Given the description of an element on the screen output the (x, y) to click on. 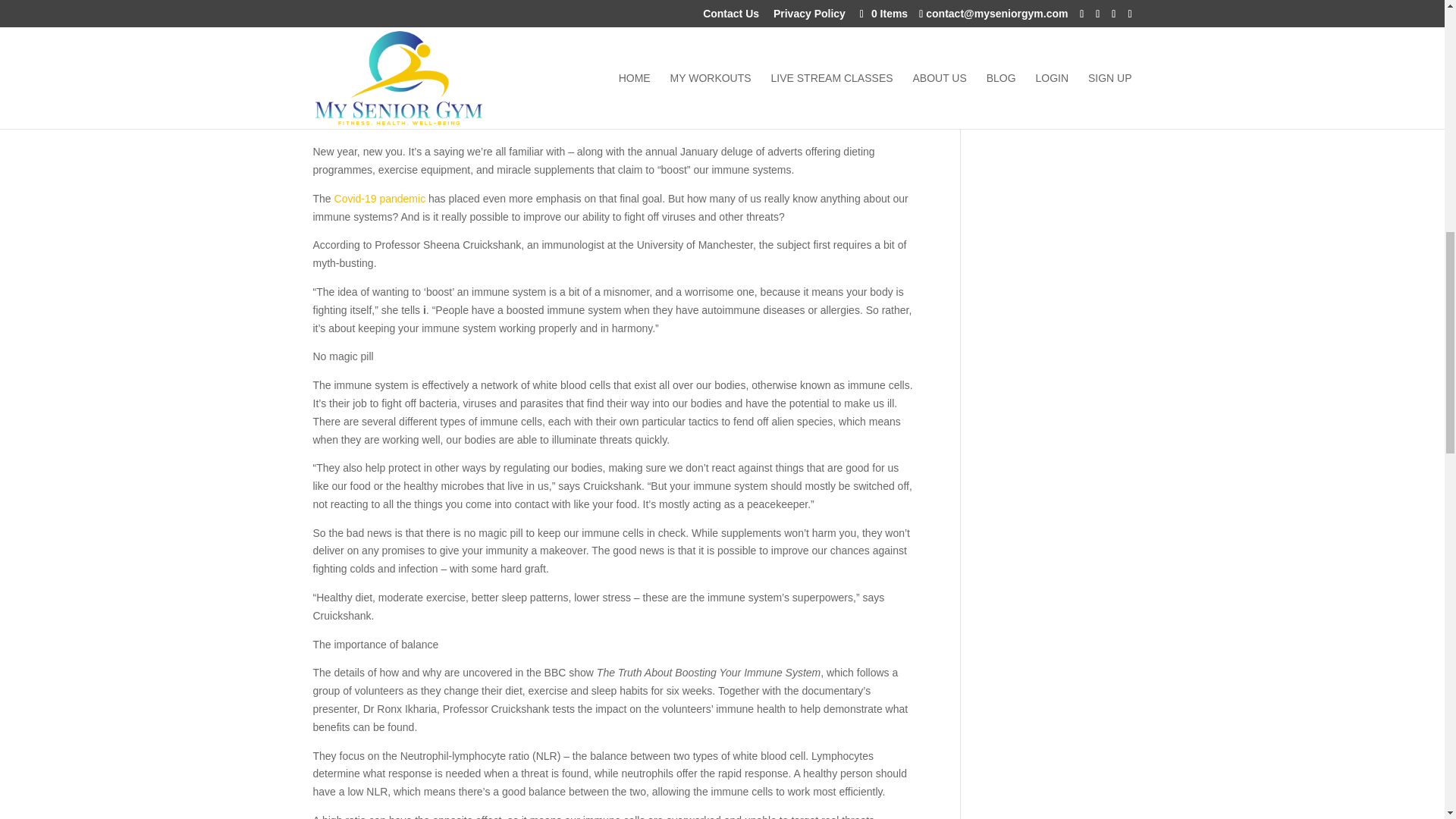
Covid-19 pandemic (380, 198)
